Given the description of an element on the screen output the (x, y) to click on. 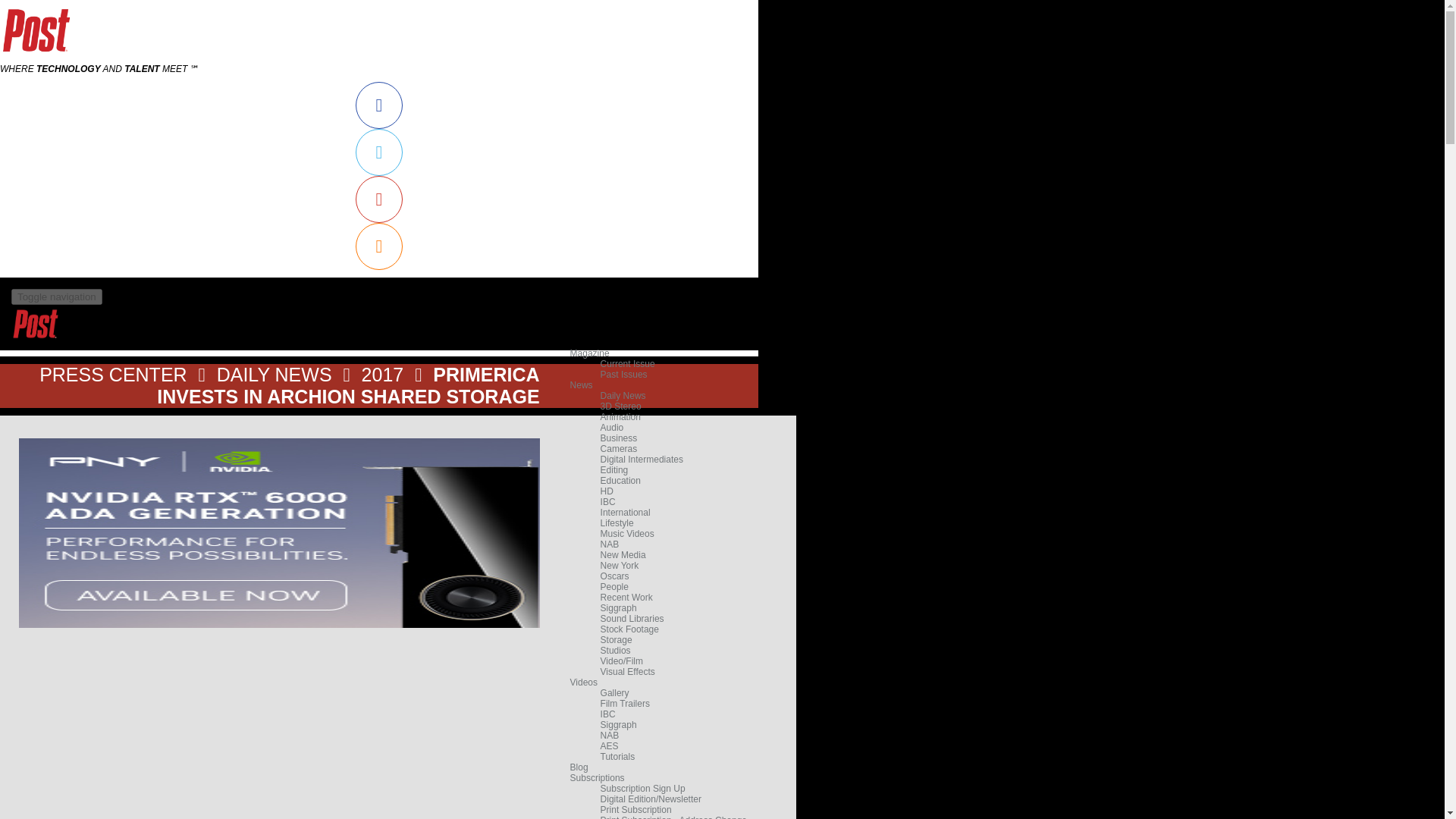
Animation (619, 416)
Education (619, 480)
Past Issues (623, 374)
Toggle navigation (56, 296)
NAB (609, 543)
International (624, 511)
Oscars (613, 575)
New York (619, 565)
Magazine (590, 353)
Storage (615, 639)
